Given the description of an element on the screen output the (x, y) to click on. 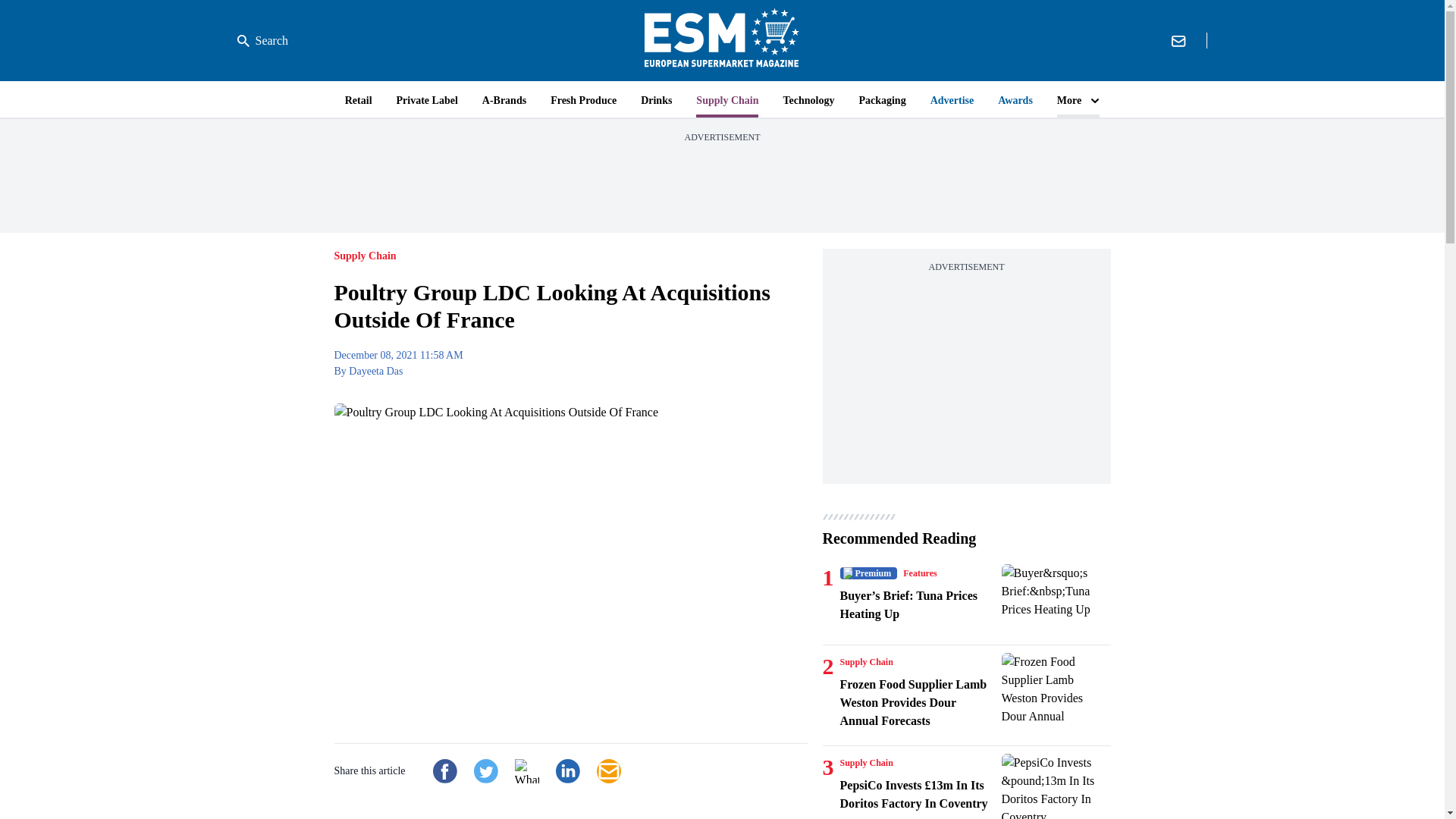
Features (919, 573)
Supply Chain (866, 662)
ESM (722, 40)
Search (261, 40)
